Given the description of an element on the screen output the (x, y) to click on. 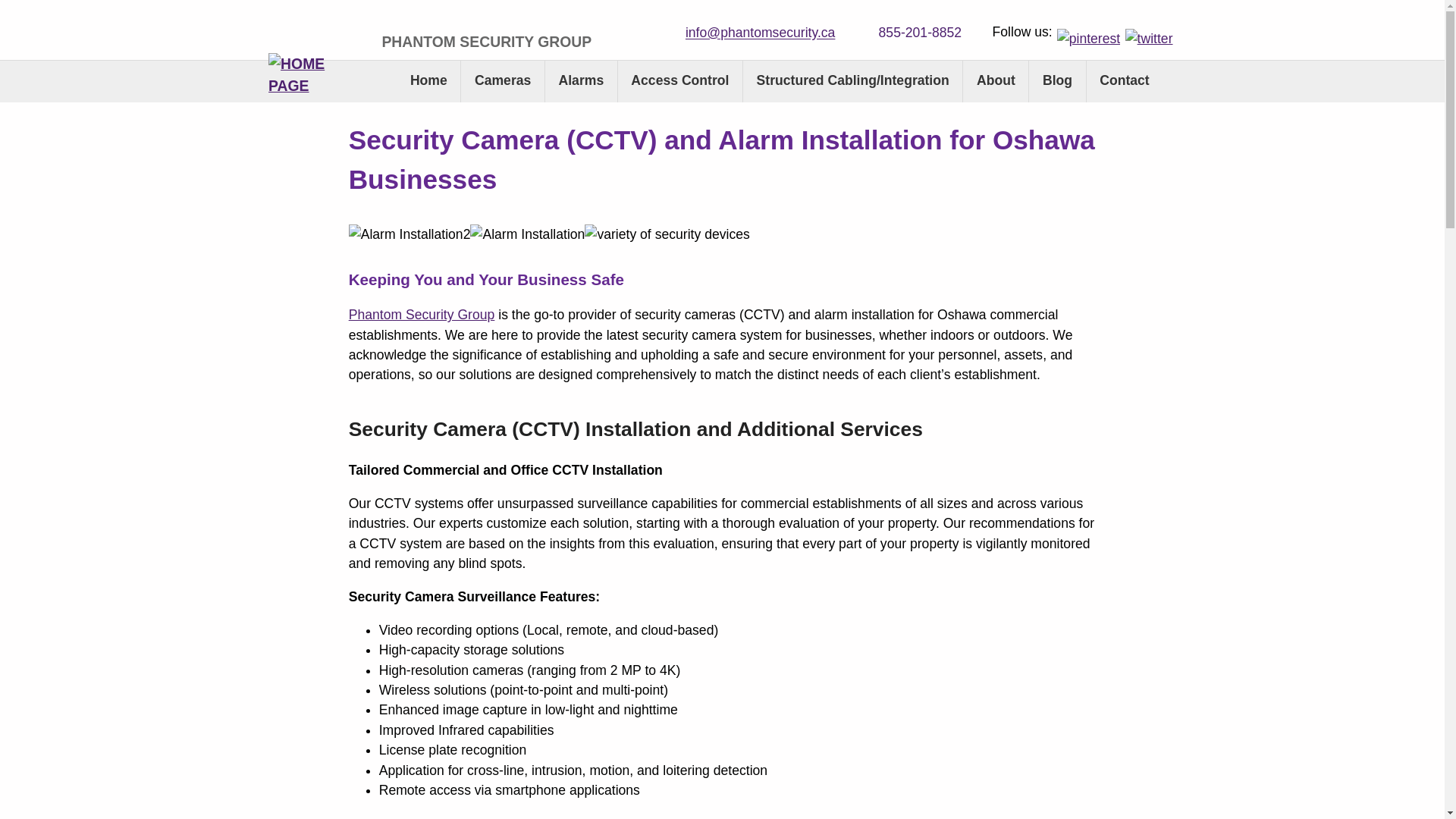
Blog (1056, 81)
Access Control (680, 81)
Phantom Security Group (422, 314)
Alarms (580, 81)
About (995, 81)
Phantom Security Group (422, 314)
Cameras (502, 81)
Home (427, 81)
Contact (1124, 81)
855-201-8852 (907, 30)
